Given the description of an element on the screen output the (x, y) to click on. 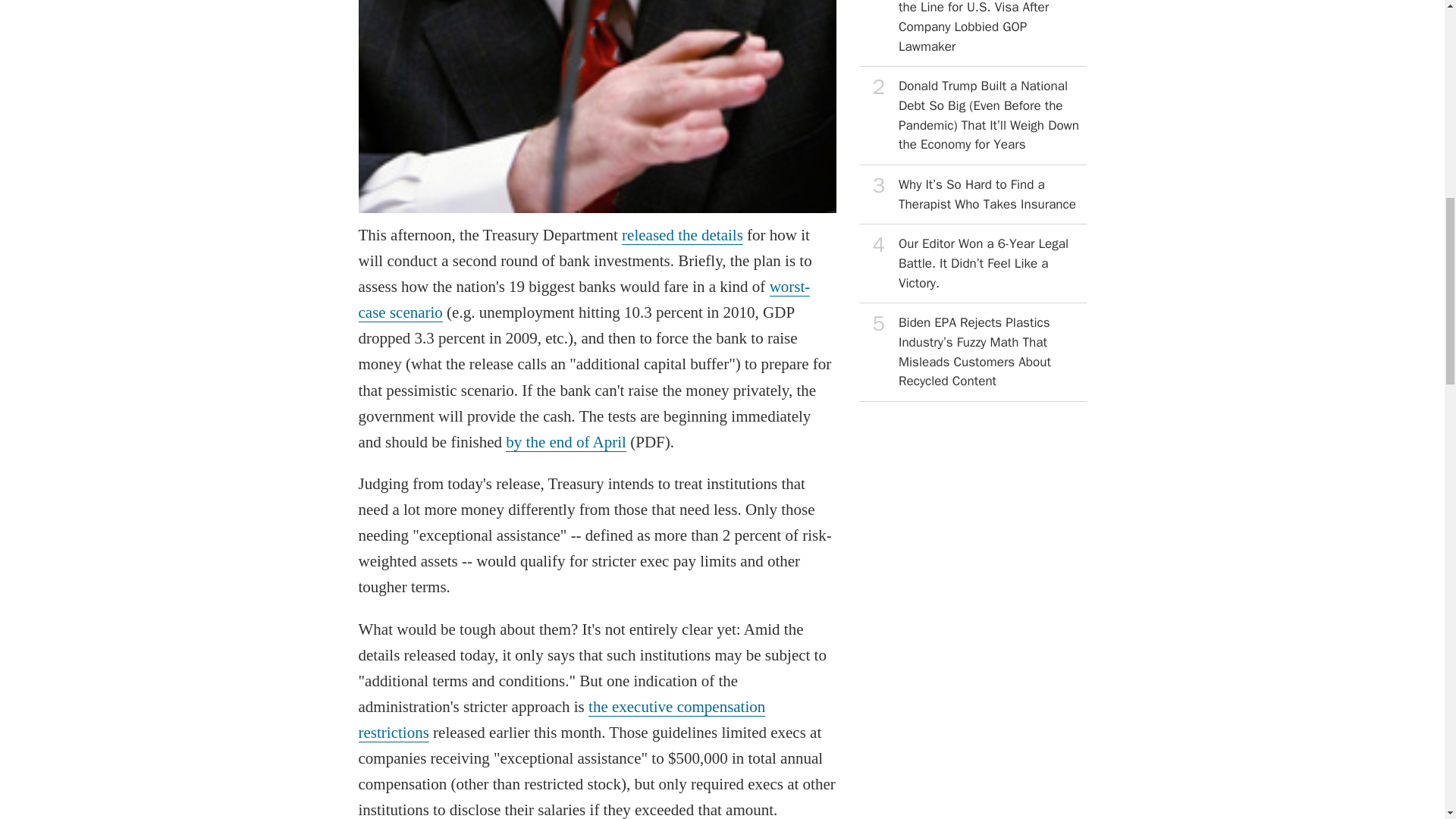
View this (972, 263)
View this (972, 33)
released the details (681, 235)
worst-case scenario (583, 299)
View this (972, 194)
View this (972, 115)
View this (972, 352)
by the end of April (565, 442)
the executive compensation restrictions (561, 719)
